Given the description of an element on the screen output the (x, y) to click on. 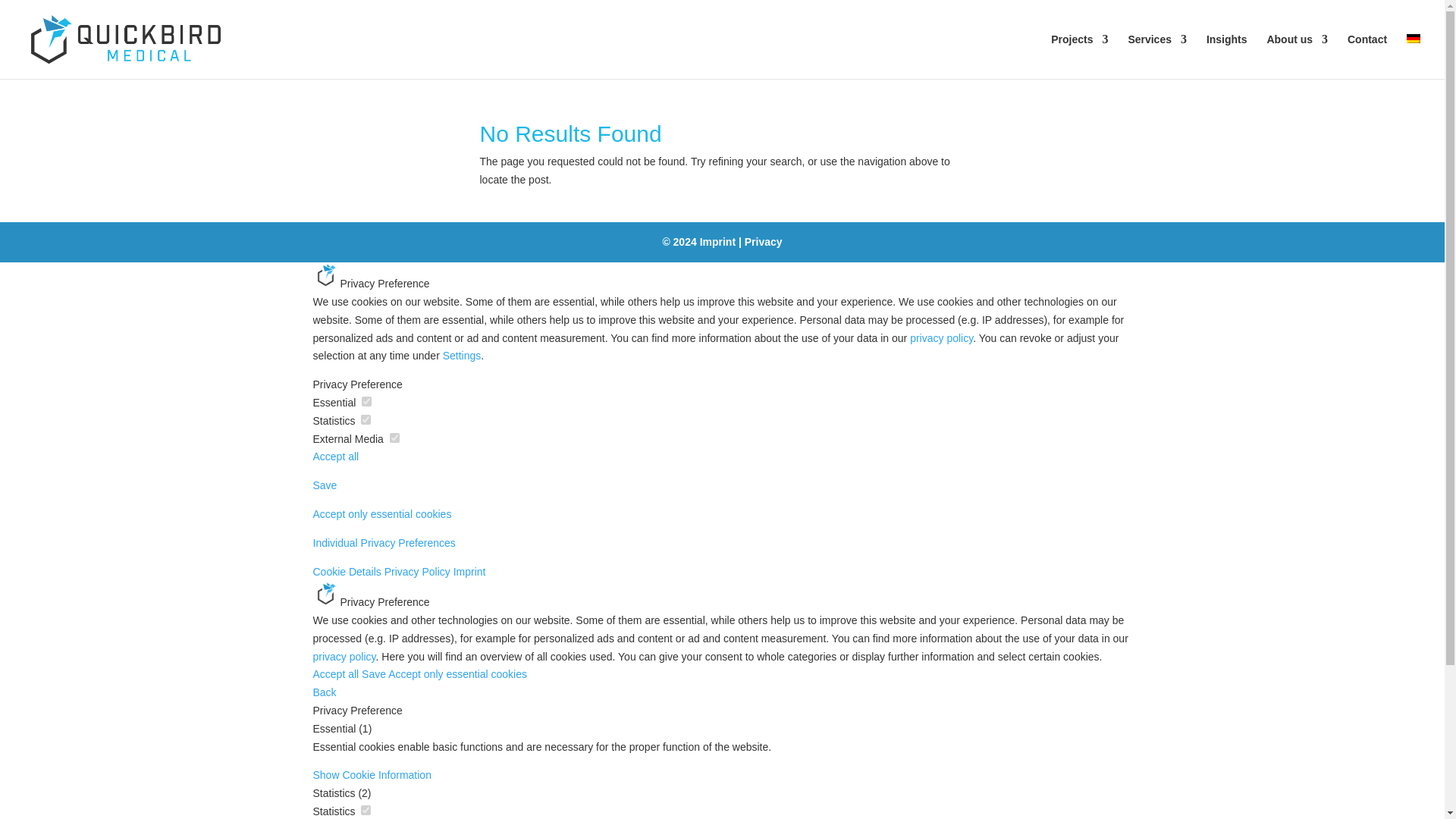
statistics (366, 419)
external-media (394, 438)
privacy policy (941, 337)
Privacy (763, 241)
Services (1156, 56)
statistics (366, 809)
essential (366, 401)
Insights (1227, 56)
Projects (1079, 56)
About us (1296, 56)
Imprint (717, 241)
